Given the description of an element on the screen output the (x, y) to click on. 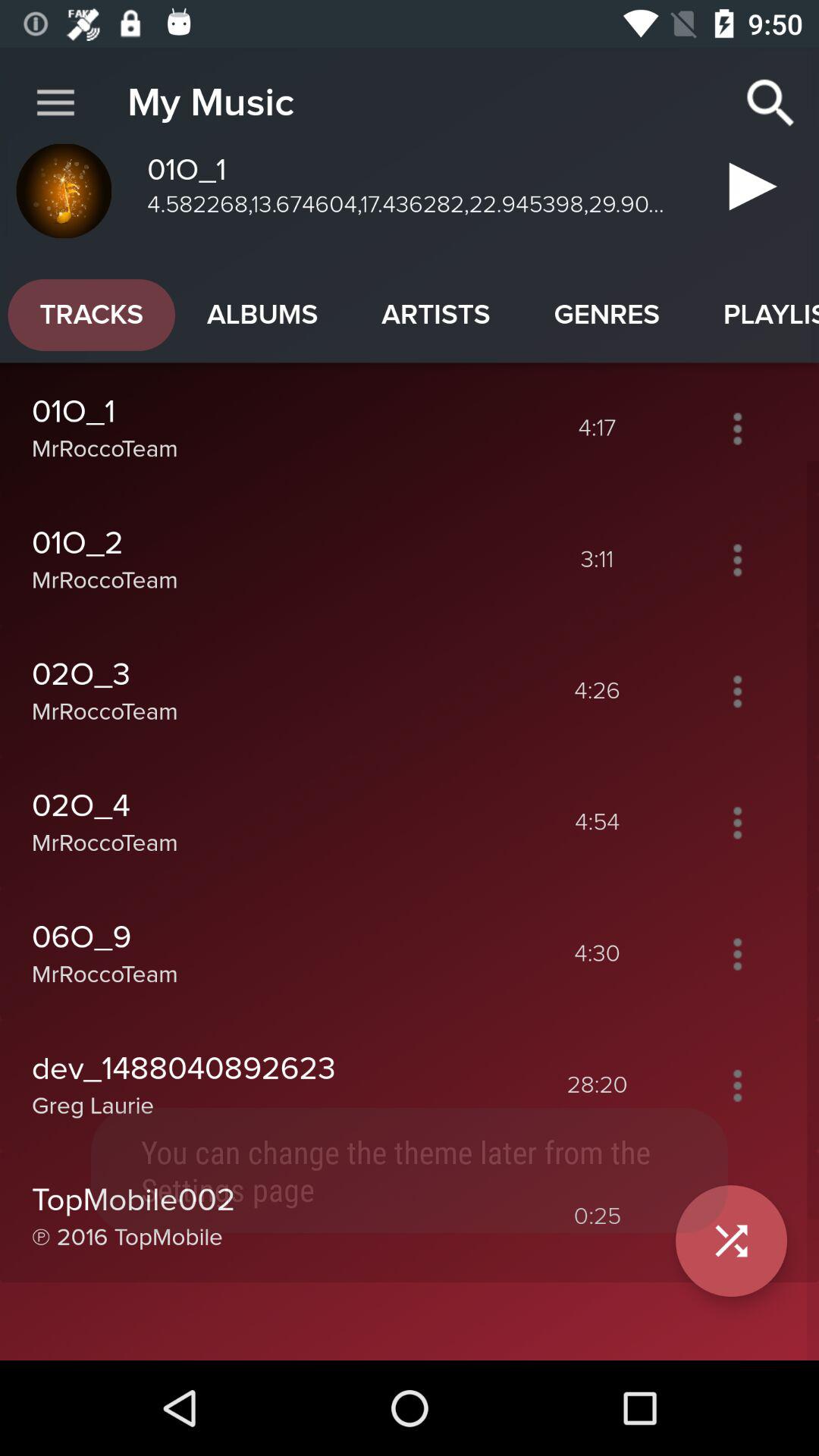
open music options (737, 428)
